Given the description of an element on the screen output the (x, y) to click on. 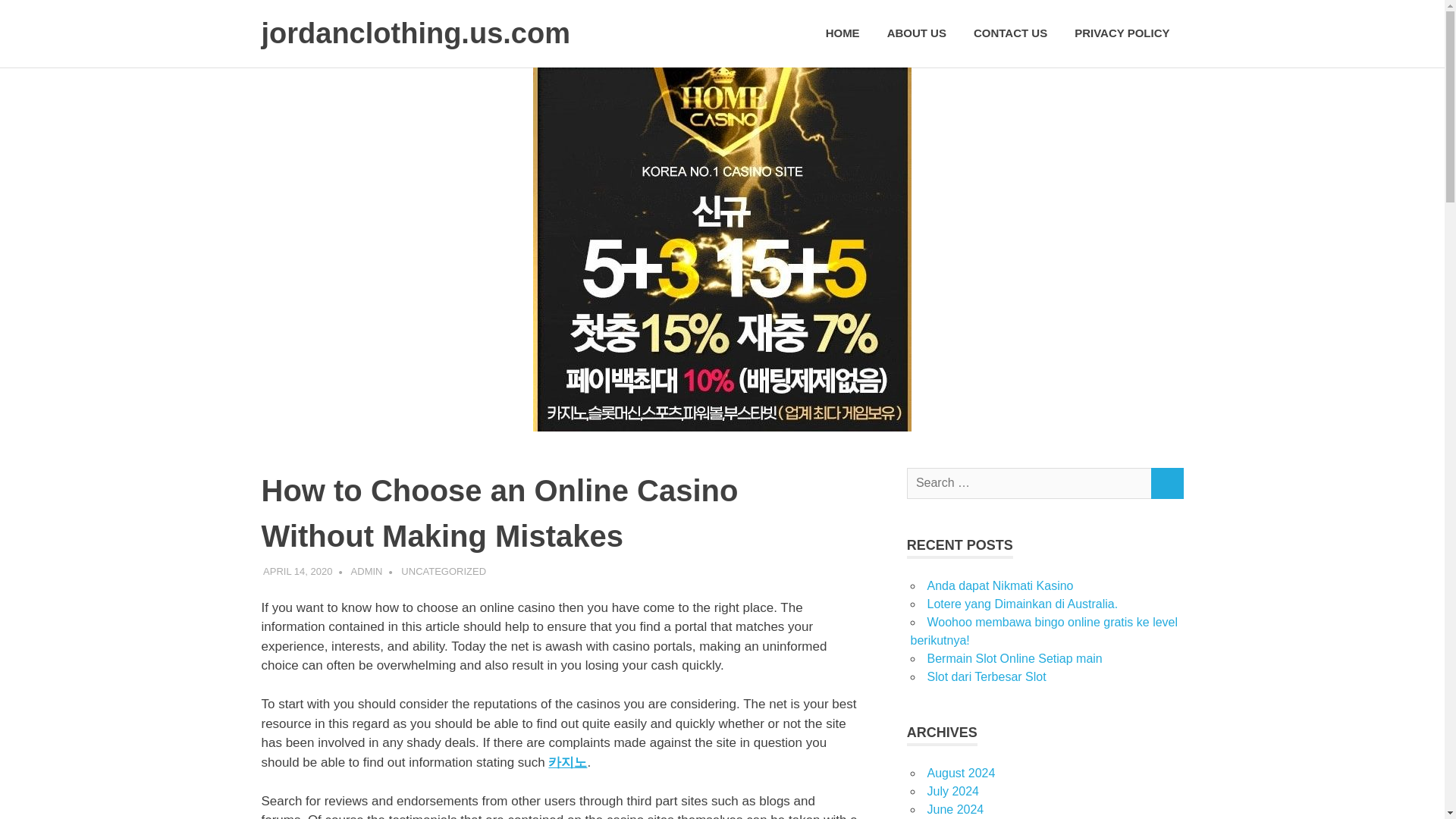
ABOUT US (916, 33)
Bermain Slot Online Setiap main (1014, 658)
Slot dari Terbesar Slot (985, 676)
ADMIN (366, 571)
Search for: (1029, 482)
August 2024 (960, 772)
Lotere yang Dimainkan di Australia. (1022, 603)
CONTACT US (1010, 33)
View all posts by admin (366, 571)
SEARCH (1166, 482)
